Given the description of an element on the screen output the (x, y) to click on. 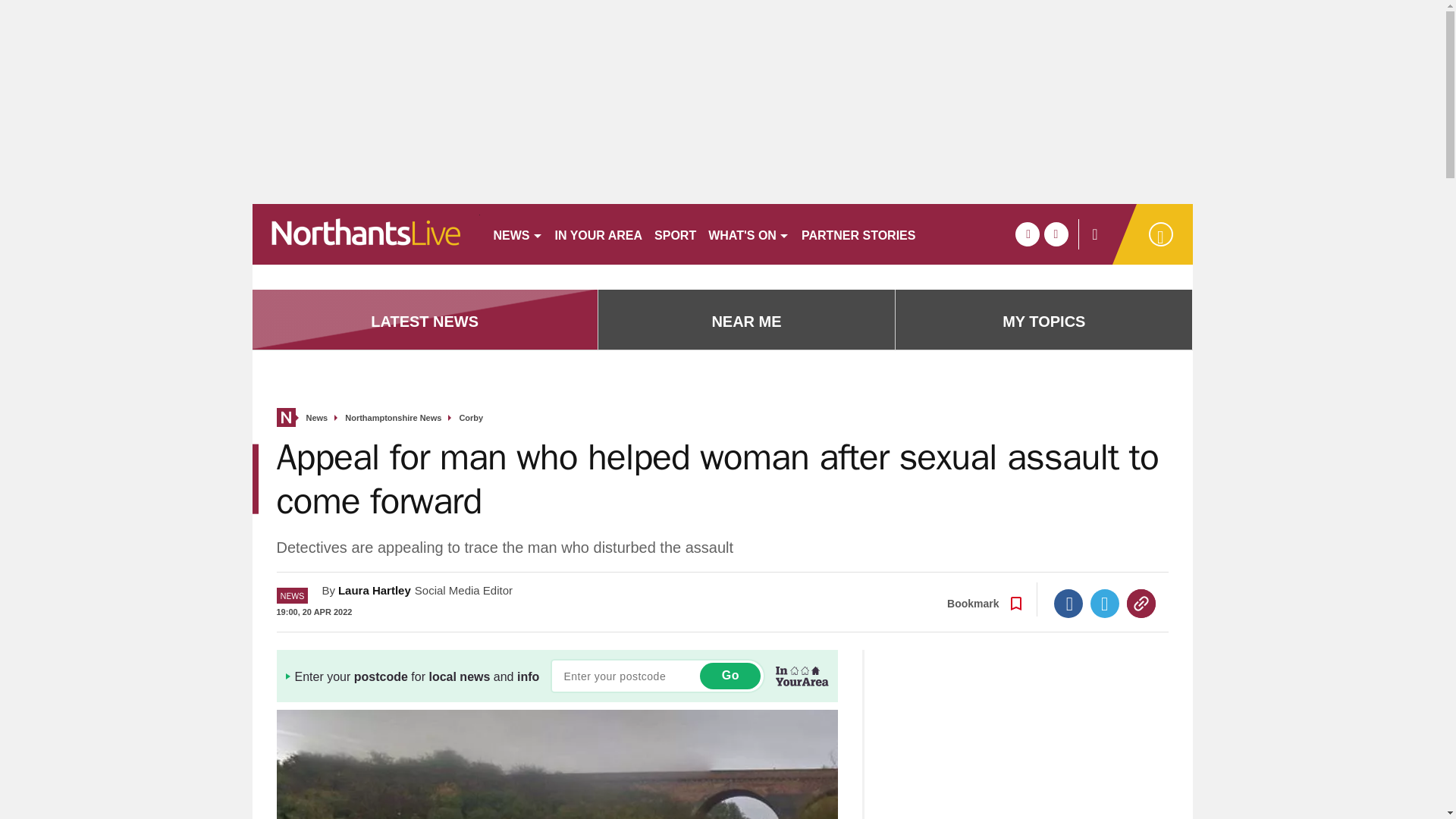
facebook (1026, 233)
WHAT'S ON (747, 233)
Twitter (1104, 603)
Corby (470, 418)
Home (285, 416)
twitter (1055, 233)
Northamptonshire News (393, 418)
Facebook (1068, 603)
NEWS (517, 233)
NEAR ME (746, 320)
